Given the description of an element on the screen output the (x, y) to click on. 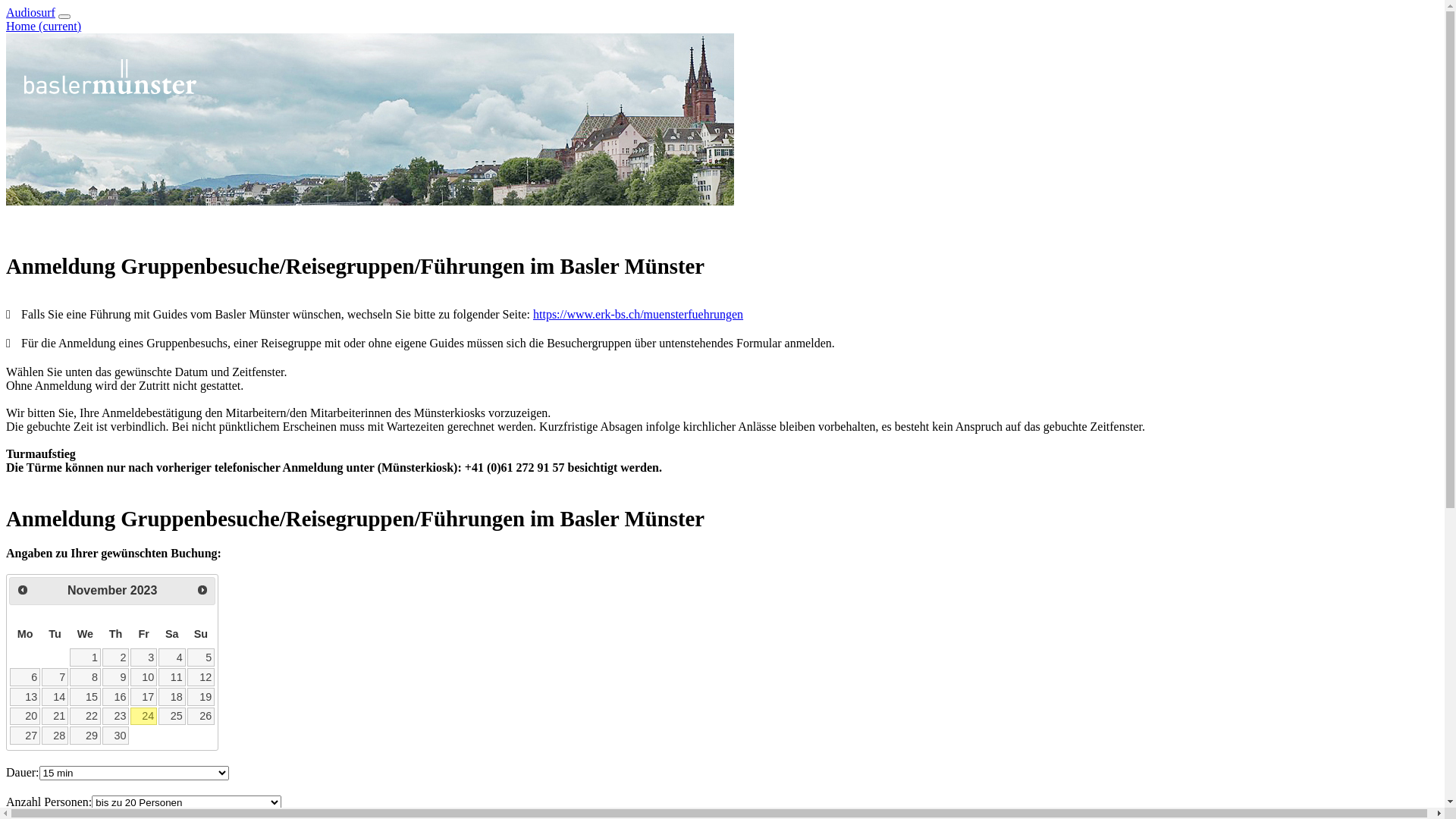
13 Element type: text (24, 696)
8 Element type: text (84, 677)
9 Element type: text (115, 677)
28 Element type: text (54, 735)
18 Element type: text (171, 696)
4 Element type: text (171, 657)
Home (current) Element type: text (43, 25)
5 Element type: text (201, 657)
2 Element type: text (115, 657)
7 Element type: text (54, 677)
Prev Element type: text (22, 590)
20 Element type: text (24, 716)
26 Element type: text (201, 716)
10 Element type: text (143, 677)
22 Element type: text (84, 716)
https://www.erk-bs.ch/muensterfuehrungen Element type: text (638, 314)
1 Element type: text (84, 657)
24 Element type: text (143, 716)
12 Element type: text (201, 677)
16 Element type: text (115, 696)
23 Element type: text (115, 716)
Audiosurf Element type: text (30, 12)
27 Element type: text (24, 735)
25 Element type: text (171, 716)
17 Element type: text (143, 696)
29 Element type: text (84, 735)
Next Element type: text (202, 590)
6 Element type: text (24, 677)
11 Element type: text (171, 677)
30 Element type: text (115, 735)
14 Element type: text (54, 696)
3 Element type: text (143, 657)
19 Element type: text (201, 696)
21 Element type: text (54, 716)
15 Element type: text (84, 696)
